Given the description of an element on the screen output the (x, y) to click on. 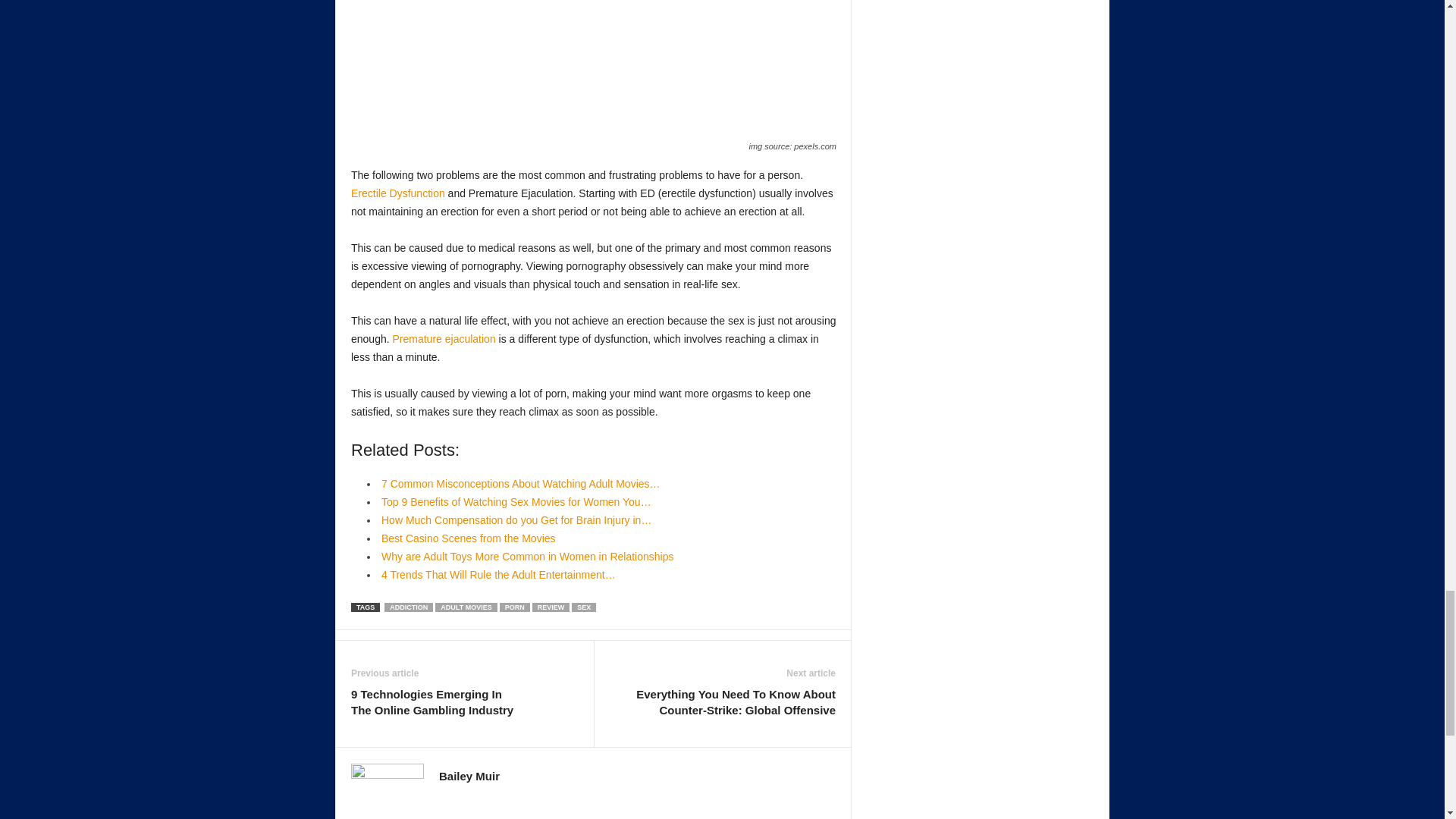
Why are Adult Toys More Common in Women in Relationships (526, 556)
Erectile Dysfunction (397, 193)
Premature ejaculation (444, 338)
Best Casino Scenes from the Movies  (469, 538)
ADDICTION (408, 606)
